Given the description of an element on the screen output the (x, y) to click on. 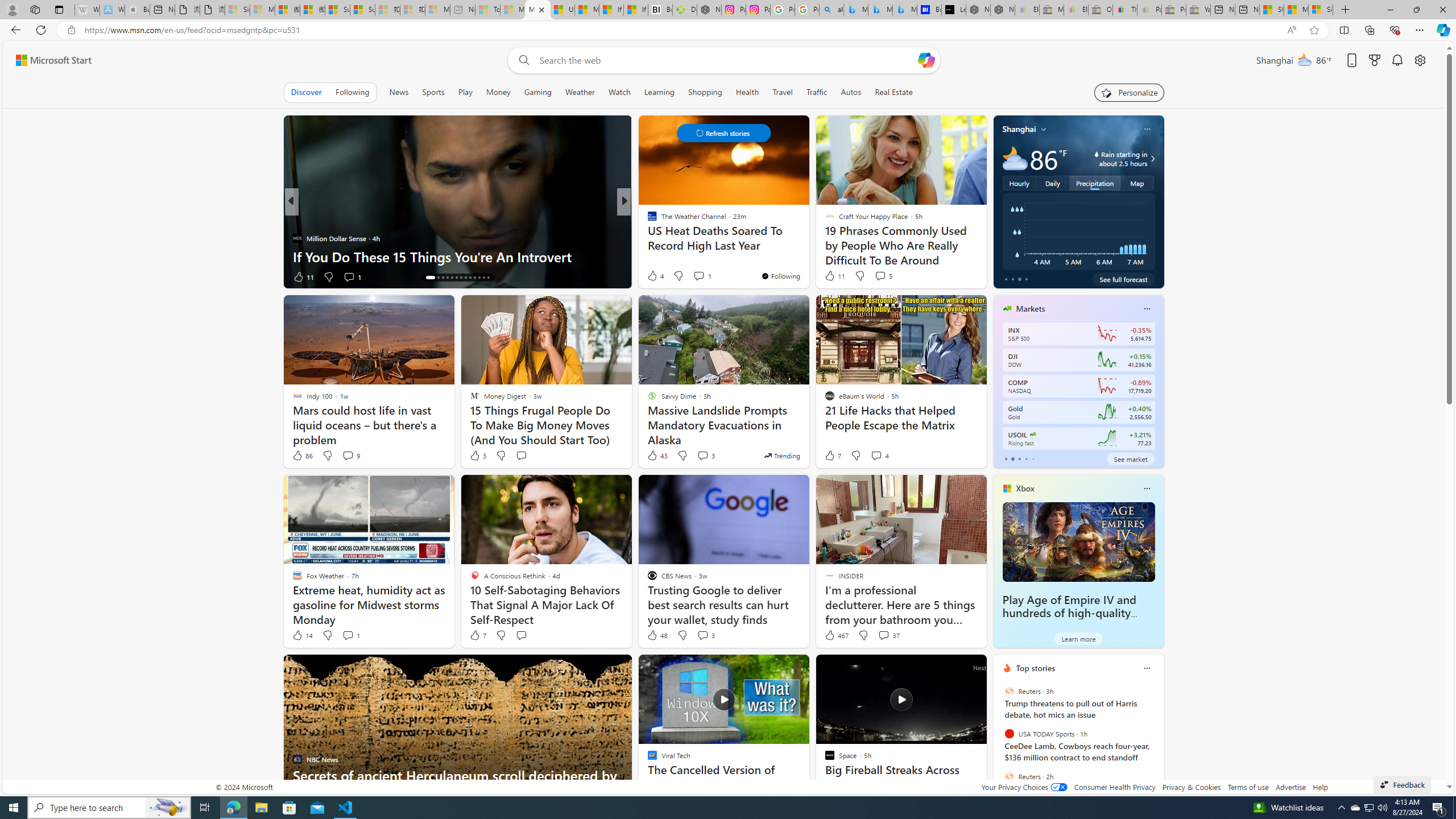
tab-0 (1005, 458)
View comments 1k Comment (698, 276)
View comments 13 Comment (703, 276)
water-drop-icon (1096, 154)
Shanghai, China hourly forecast | Microsoft Weather (1271, 9)
123 Like (654, 276)
43 Like (657, 455)
Press Room - eBay Inc. - Sleeping (1174, 9)
If You Do These 15 Things You're An Introvert (457, 256)
